Given the description of an element on the screen output the (x, y) to click on. 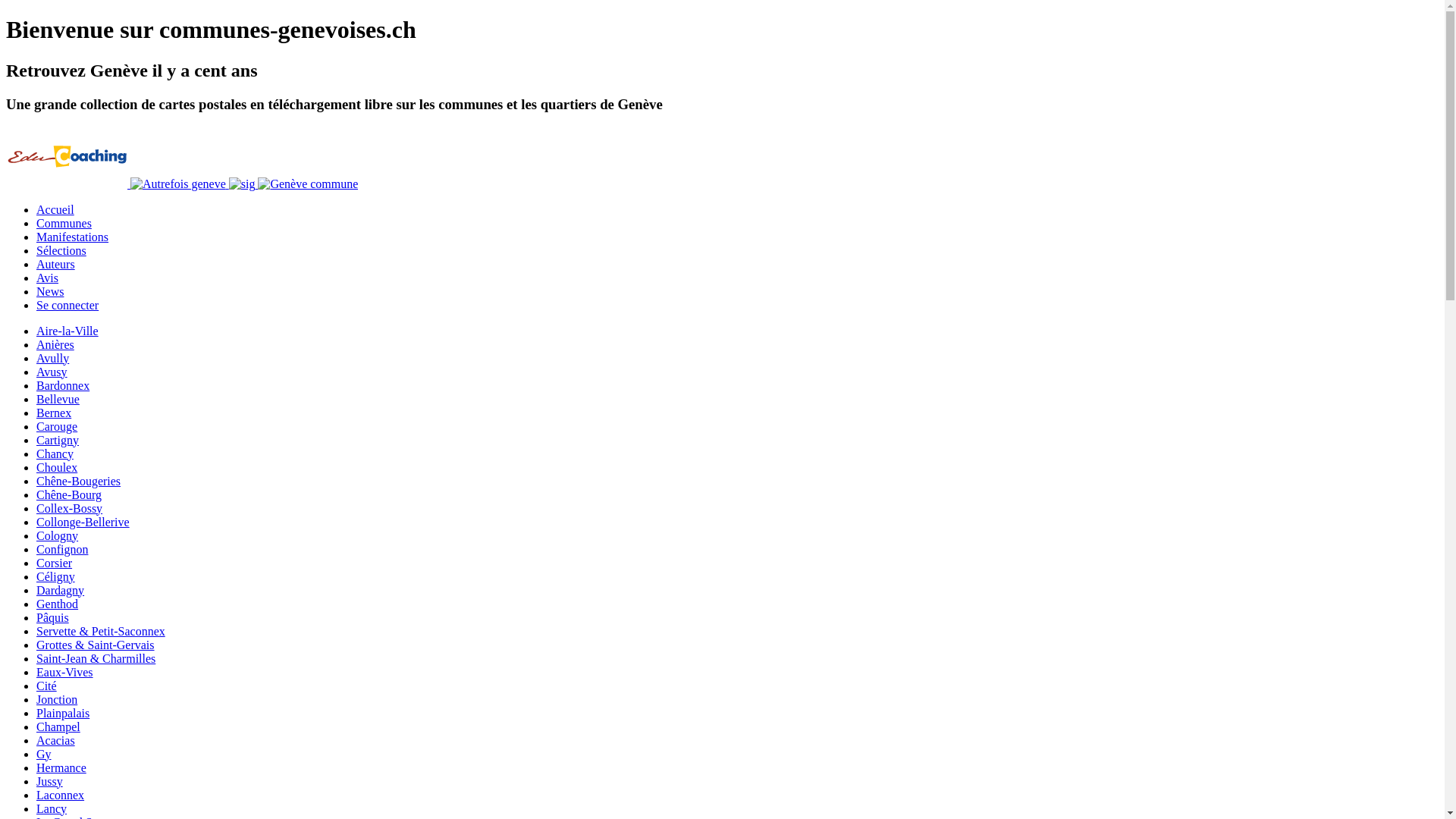
Gy Element type: text (43, 753)
Jussy Element type: text (49, 781)
Collonge-Bellerive Element type: text (82, 521)
Servette & Petit-Saconnex Element type: text (100, 630)
Grottes & Saint-Gervais Element type: text (95, 644)
Eaux-Vives Element type: text (64, 671)
Bernex Element type: text (53, 412)
Choulex Element type: text (56, 467)
Aire-la-Ville Element type: text (67, 330)
Carouge Element type: text (56, 426)
Jonction Element type: text (56, 699)
Acacias Element type: text (55, 740)
Auteurs Element type: text (55, 263)
Accueil Element type: text (55, 209)
Communes Element type: text (63, 222)
Avis Element type: text (47, 277)
Chancy Element type: text (54, 453)
Lancy Element type: text (51, 808)
Hermance Element type: text (61, 767)
Avully Element type: text (52, 357)
Bellevue Element type: text (57, 398)
News Element type: text (49, 291)
Laconnex Element type: text (60, 794)
Dardagny Element type: text (60, 589)
Saint-Jean & Charmilles Element type: text (95, 658)
Plainpalais Element type: text (62, 712)
Cologny Element type: text (57, 535)
Corsier Element type: text (54, 562)
Manifestations Element type: text (72, 236)
Bardonnex Element type: text (62, 385)
Collex-Bossy Element type: text (69, 508)
Confignon Element type: text (61, 548)
Avusy Element type: text (51, 371)
Champel Element type: text (58, 726)
Genthod Element type: text (57, 603)
Cartigny Element type: text (57, 439)
Se connecter Element type: text (67, 304)
